Given the description of an element on the screen output the (x, y) to click on. 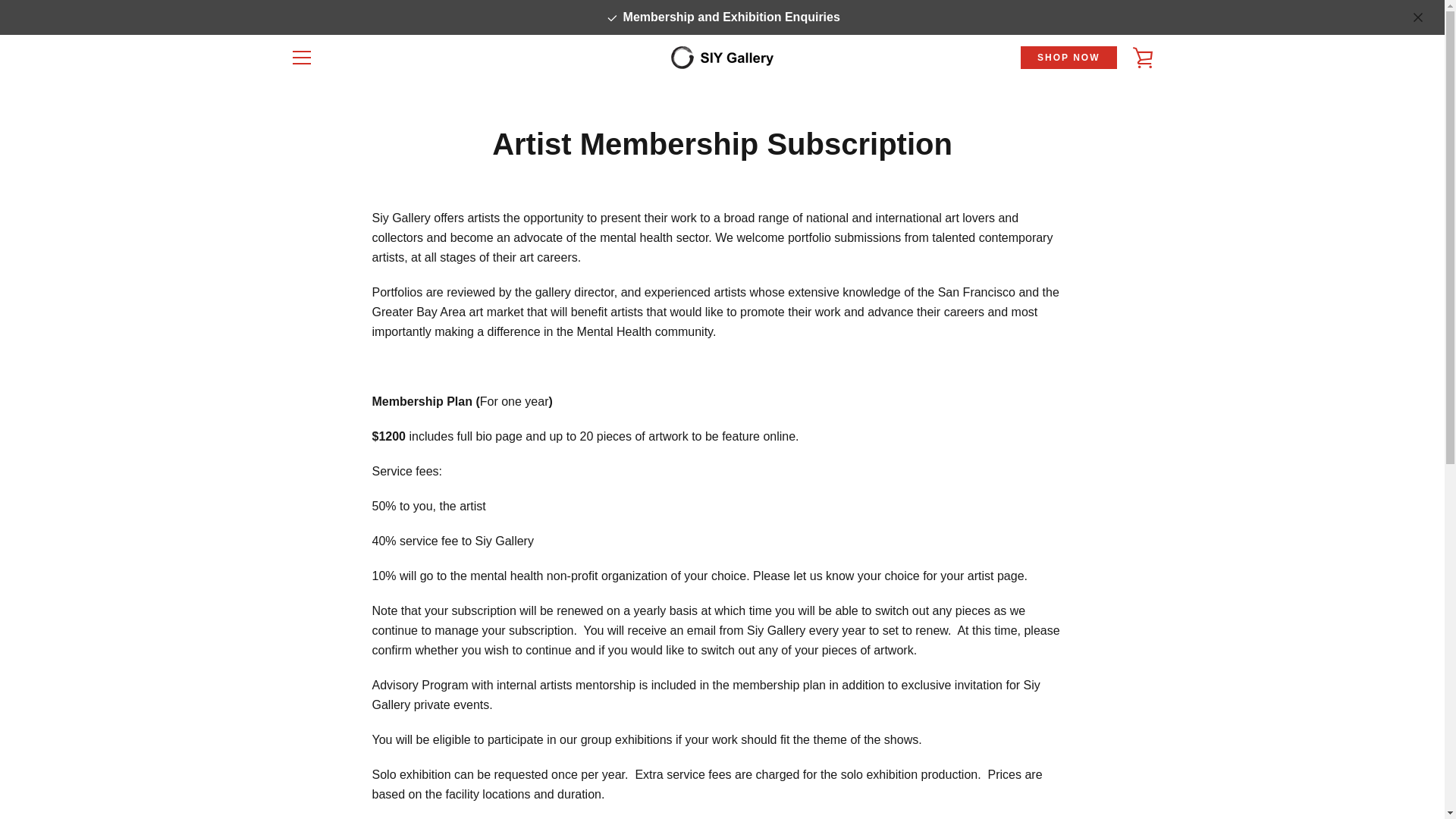
Siy Gallery on Instagram (368, 765)
Mastercard (1106, 755)
Siy Gallery on Pinterest (341, 765)
American Express (896, 755)
Diners Club (966, 755)
MENU (301, 57)
Meta Pay (1036, 755)
Siy Gallery on Twitter (315, 765)
PayPal (1141, 755)
Venmo (1106, 778)
